Given the description of an element on the screen output the (x, y) to click on. 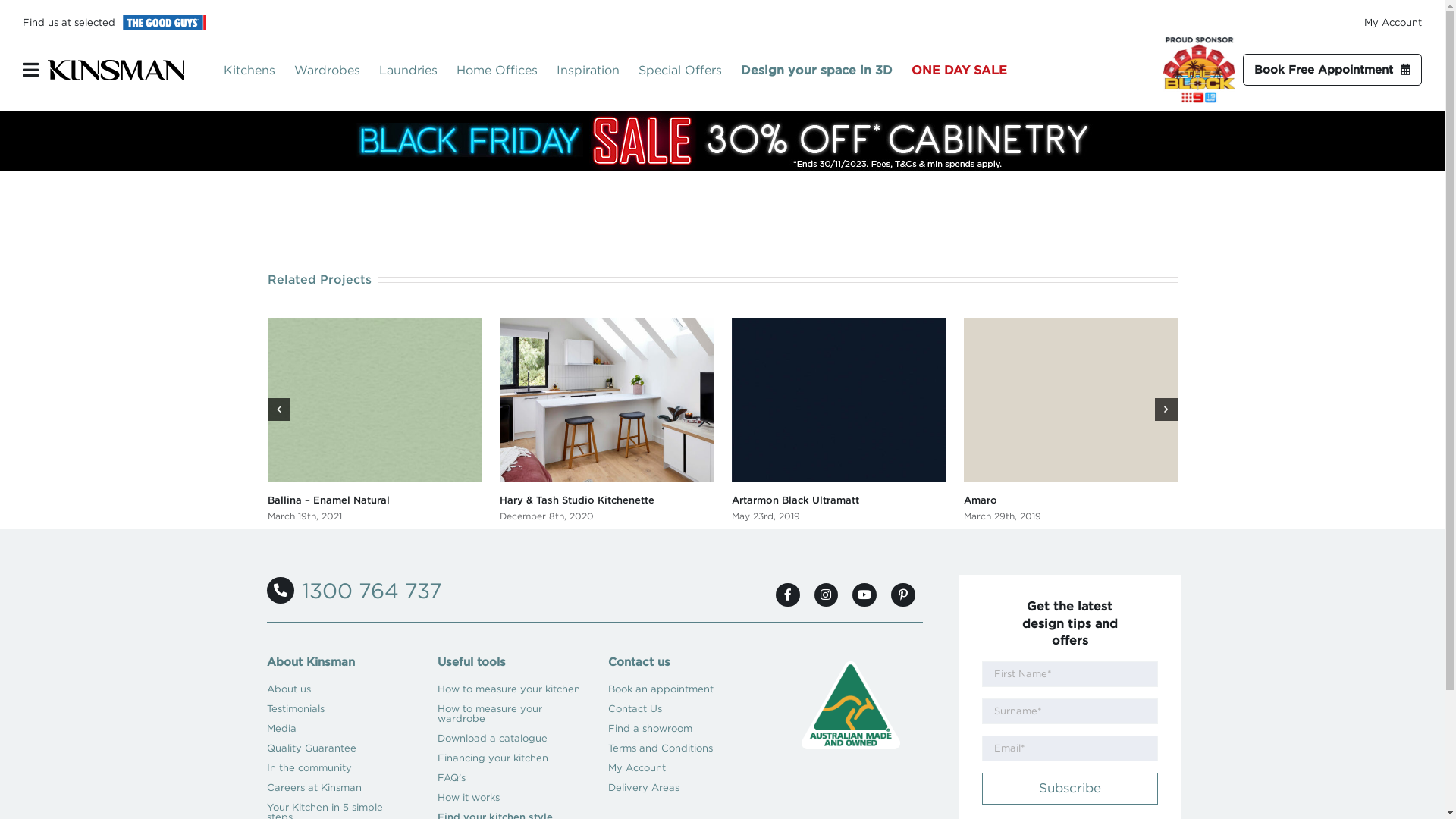
Download a catalogue Element type: text (508, 738)
Find us at selected Element type: text (68, 21)
Terms and Conditions Element type: text (679, 748)
Find a showroom Element type: text (679, 728)
My Account Element type: text (679, 768)
ONE DAY SALE Element type: text (968, 69)
Inspiration Element type: text (597, 69)
Wardrobes Element type: text (336, 69)
Delivery Areas Element type: text (679, 787)
Special Offers Element type: text (689, 69)
How it works Element type: text (508, 797)
Design your space in 3D Element type: text (825, 69)
How to measure your kitchen Element type: text (508, 689)
1300 764 737 Element type: text (353, 590)
Home Offices Element type: text (506, 69)
Book an appointment Element type: text (679, 689)
Contact Us Element type: text (679, 708)
About us Element type: text (338, 689)
Amaro Element type: text (979, 499)
How to measure your wardrobe Element type: text (508, 713)
Subscribe Element type: text (1069, 788)
In the community Element type: text (338, 768)
Careers at Kinsman Element type: text (338, 787)
Kitchens Element type: text (258, 69)
Media Element type: text (338, 728)
My Account Element type: text (1392, 21)
Quality Guarantee Element type: text (338, 748)
Book Free Appointment Element type: text (1331, 69)
Testimonials Element type: text (338, 708)
Hary & Tash Studio Kitchenette Element type: text (575, 499)
Laundries Element type: text (417, 69)
Artarmon Black Ultramatt Element type: text (794, 499)
Financing your kitchen Element type: text (508, 758)
